Given the description of an element on the screen output the (x, y) to click on. 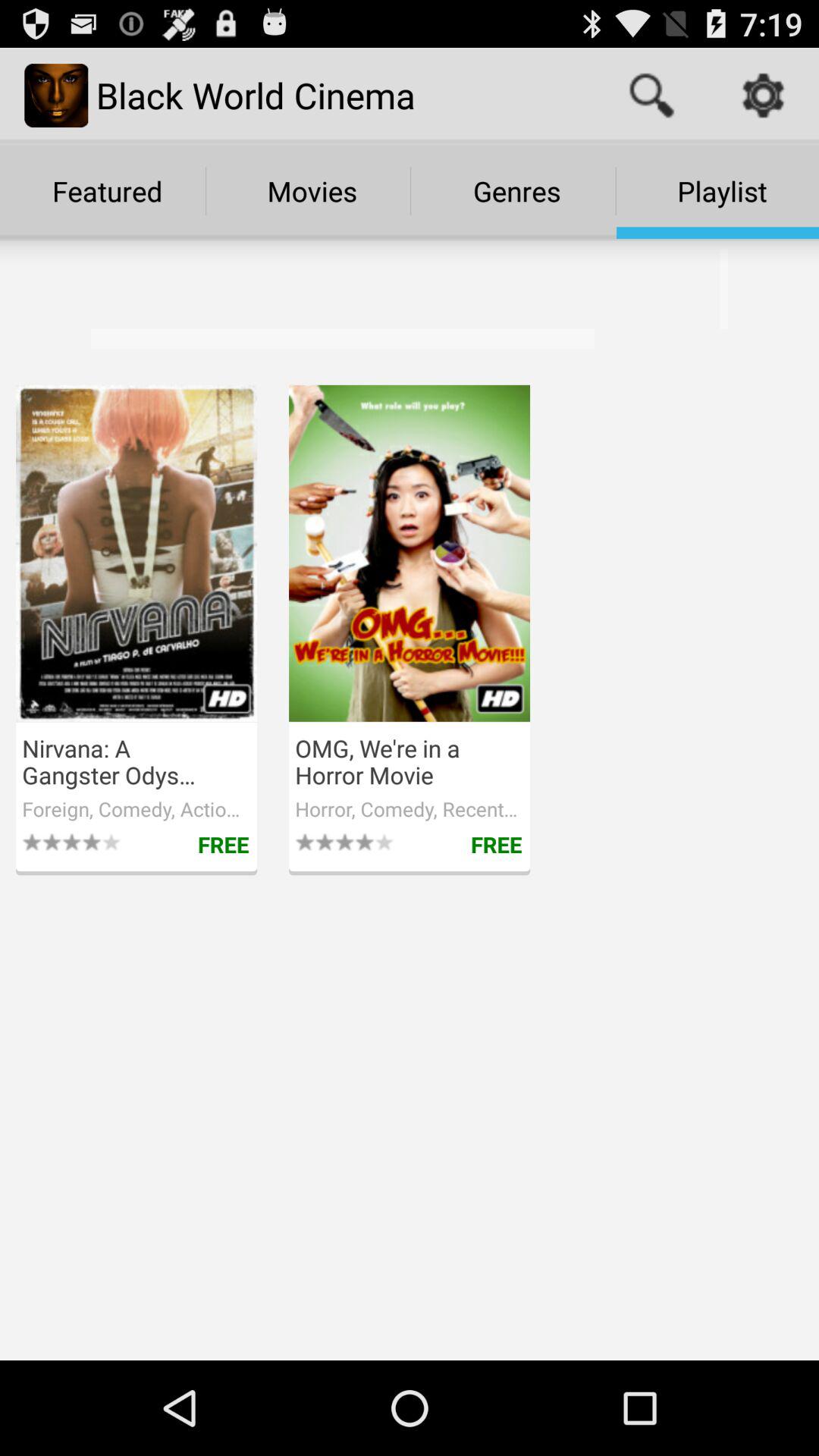
press the app below the featured icon (333, 303)
